Given the description of an element on the screen output the (x, y) to click on. 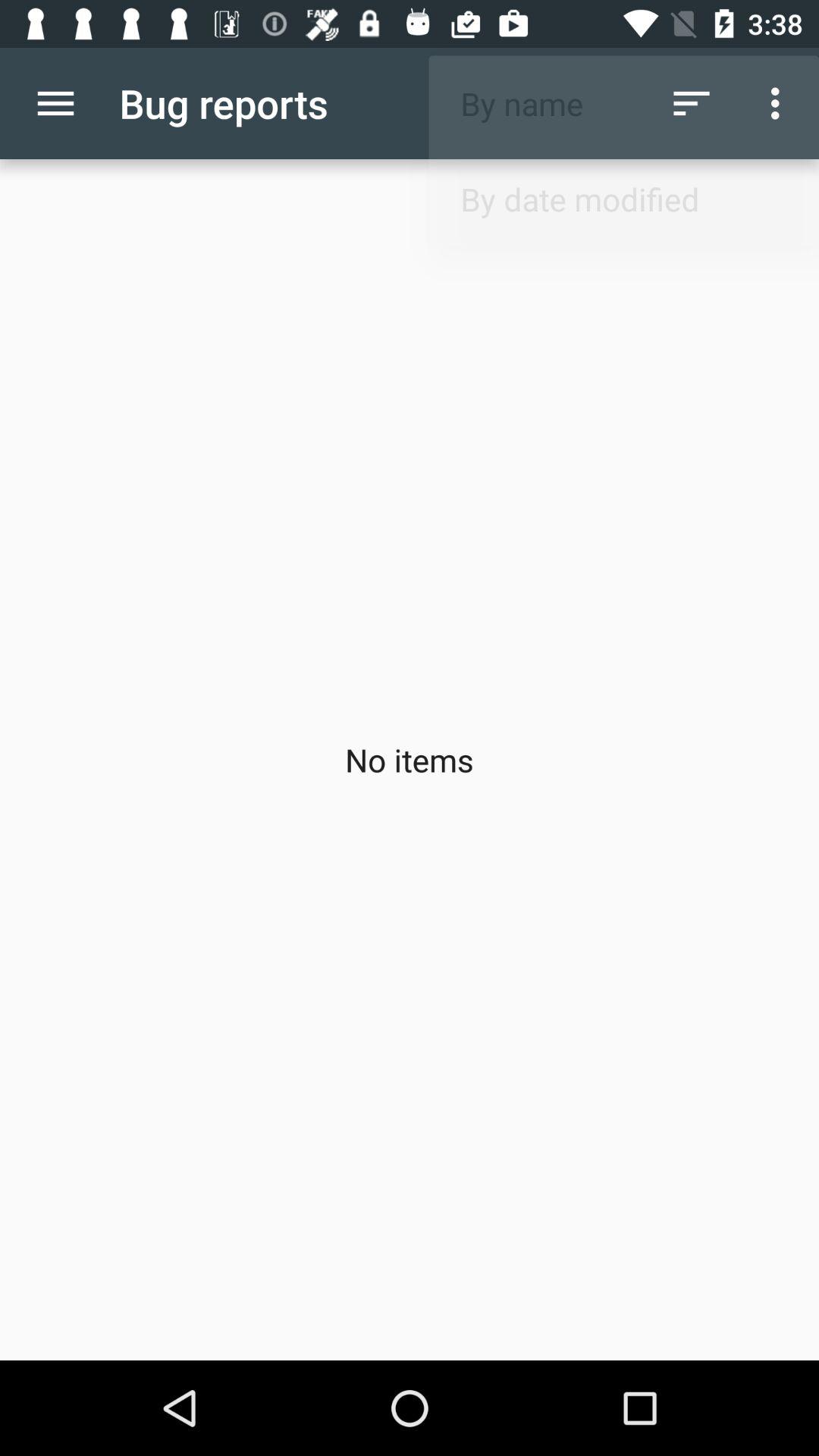
tap icon above no items app (55, 103)
